Given the description of an element on the screen output the (x, y) to click on. 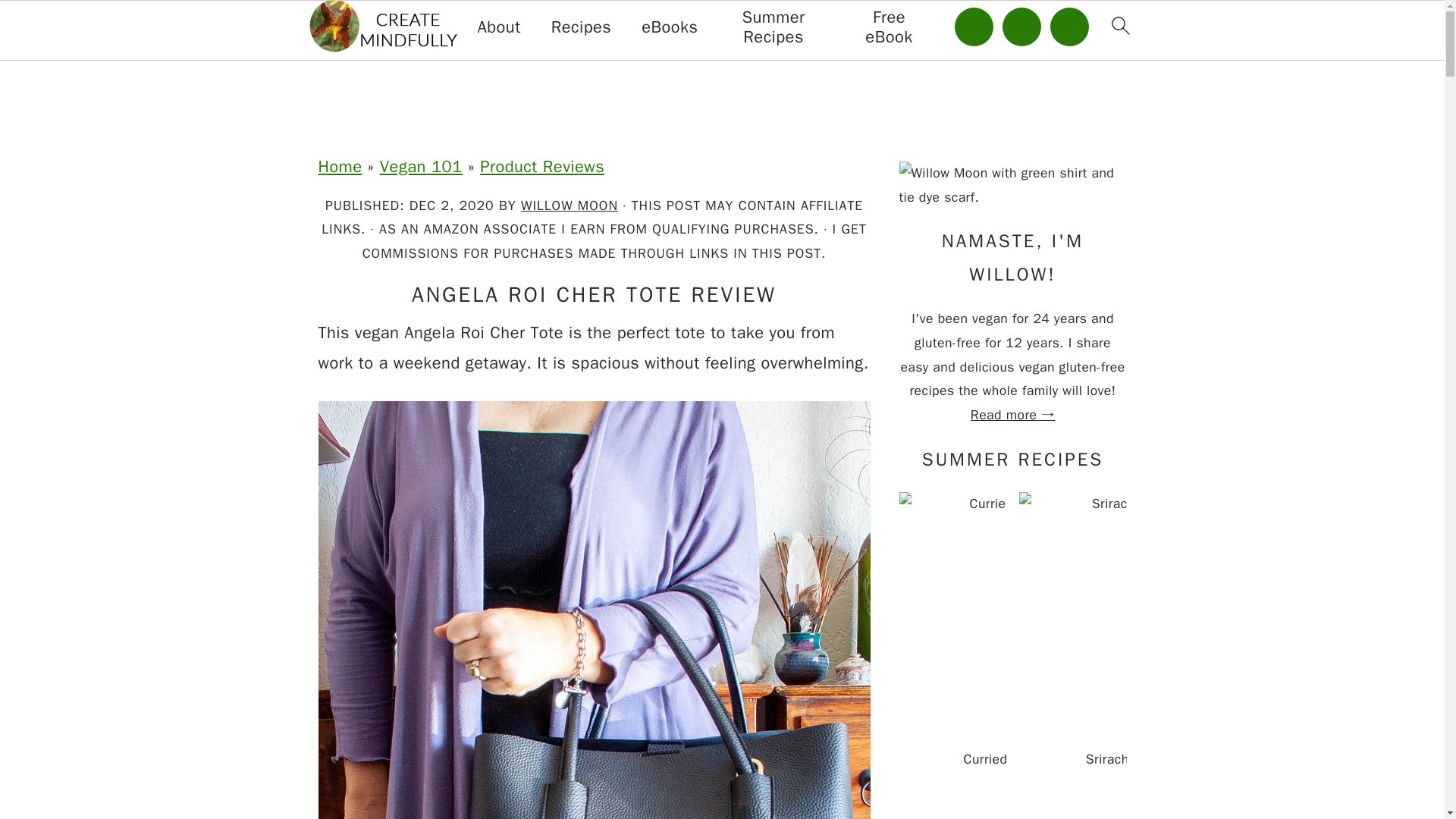
Home (340, 166)
eBooks (669, 26)
Summer Recipes (773, 27)
Free eBook (889, 27)
WILLOW MOON (569, 205)
Recipes (581, 26)
About (499, 26)
Vegan 101 (421, 166)
Product Reviews (542, 166)
